Given the description of an element on the screen output the (x, y) to click on. 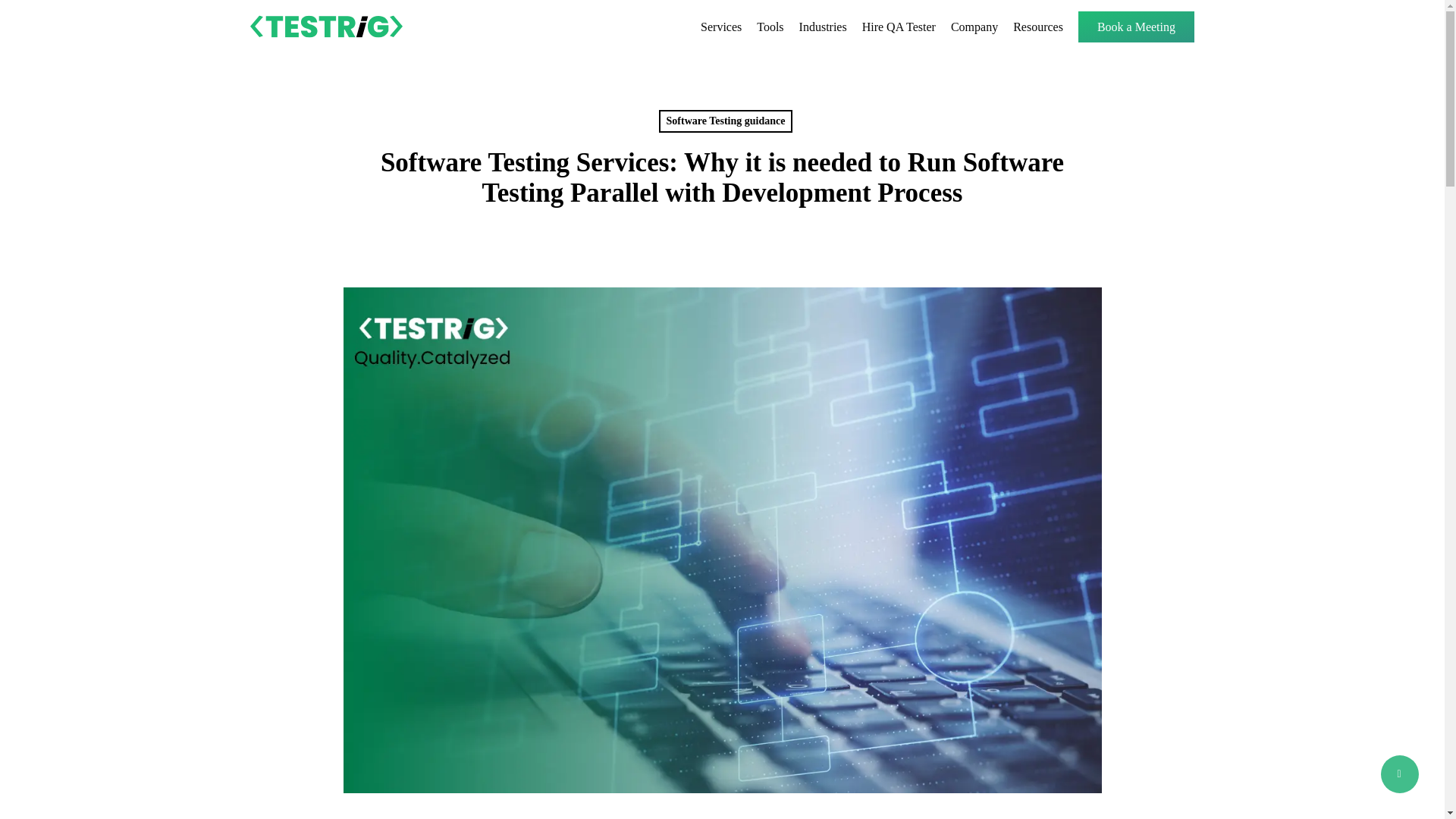
Services (720, 26)
Tools (770, 26)
Industries (823, 26)
Hire QA Tester (898, 26)
Company (973, 26)
